Given the description of an element on the screen output the (x, y) to click on. 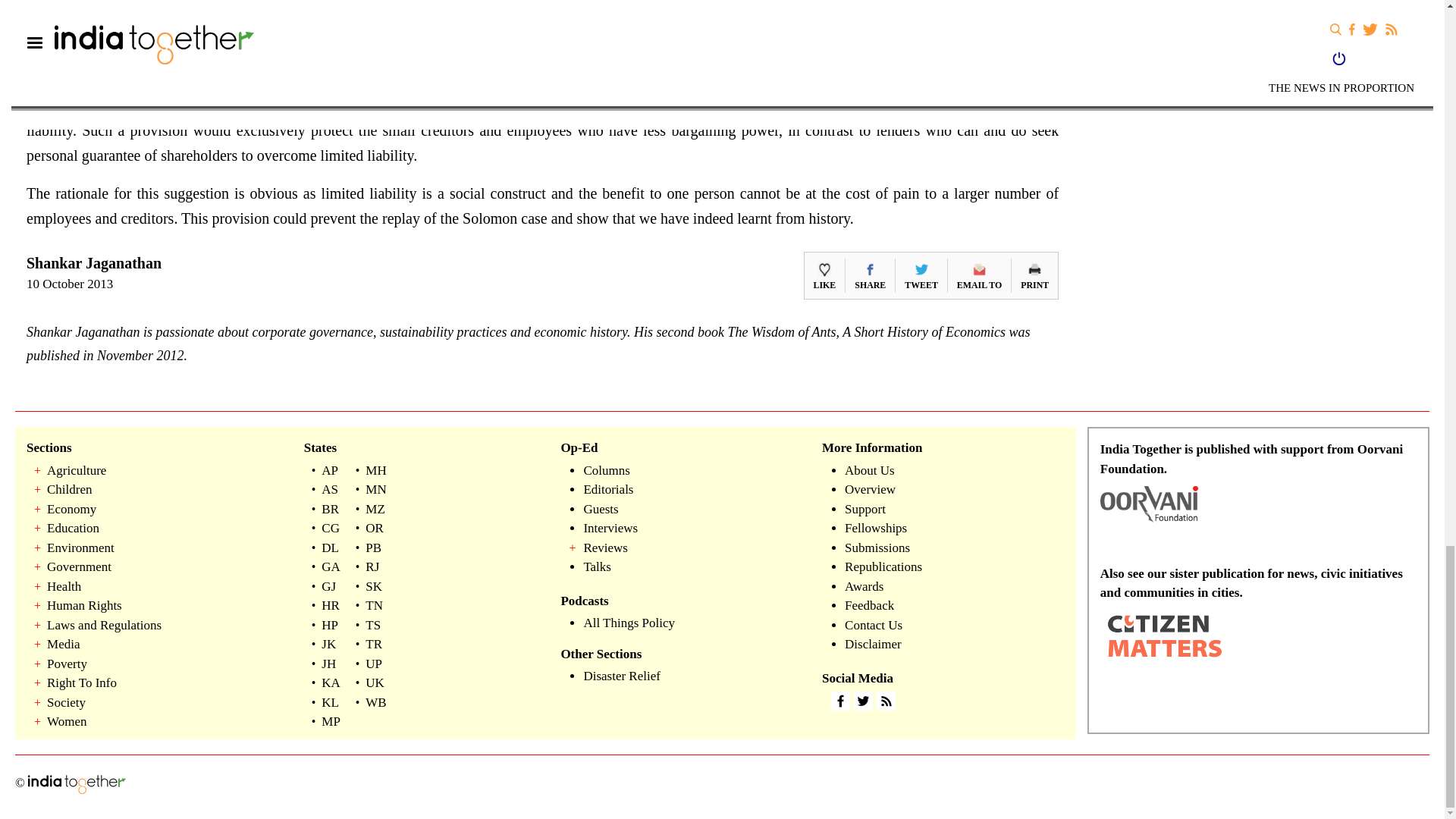
EMAIL TO (978, 274)
SHARE (869, 274)
TWEET (920, 274)
